Given the description of an element on the screen output the (x, y) to click on. 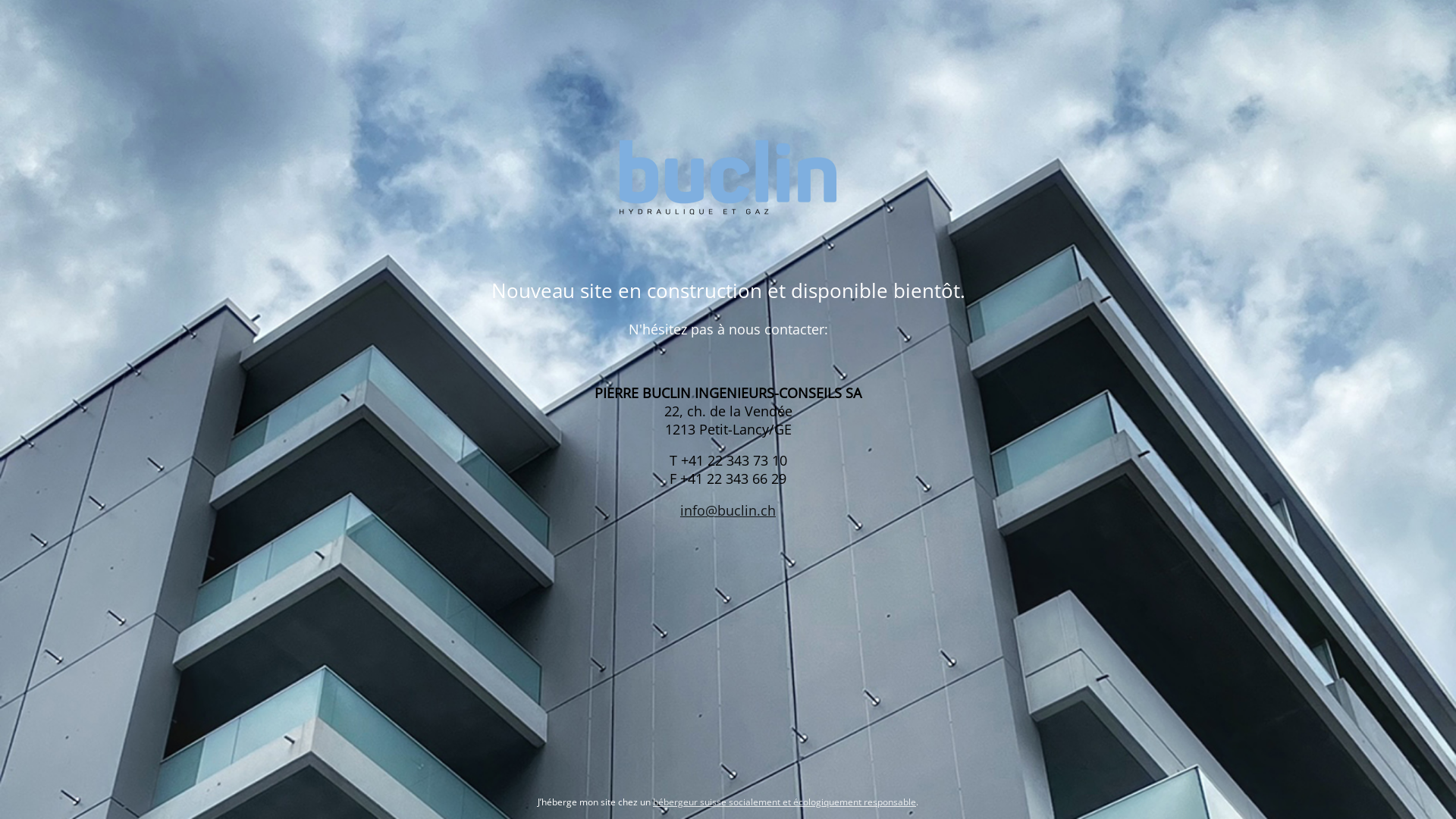
info@buclin.ch Element type: text (727, 510)
